Given the description of an element on the screen output the (x, y) to click on. 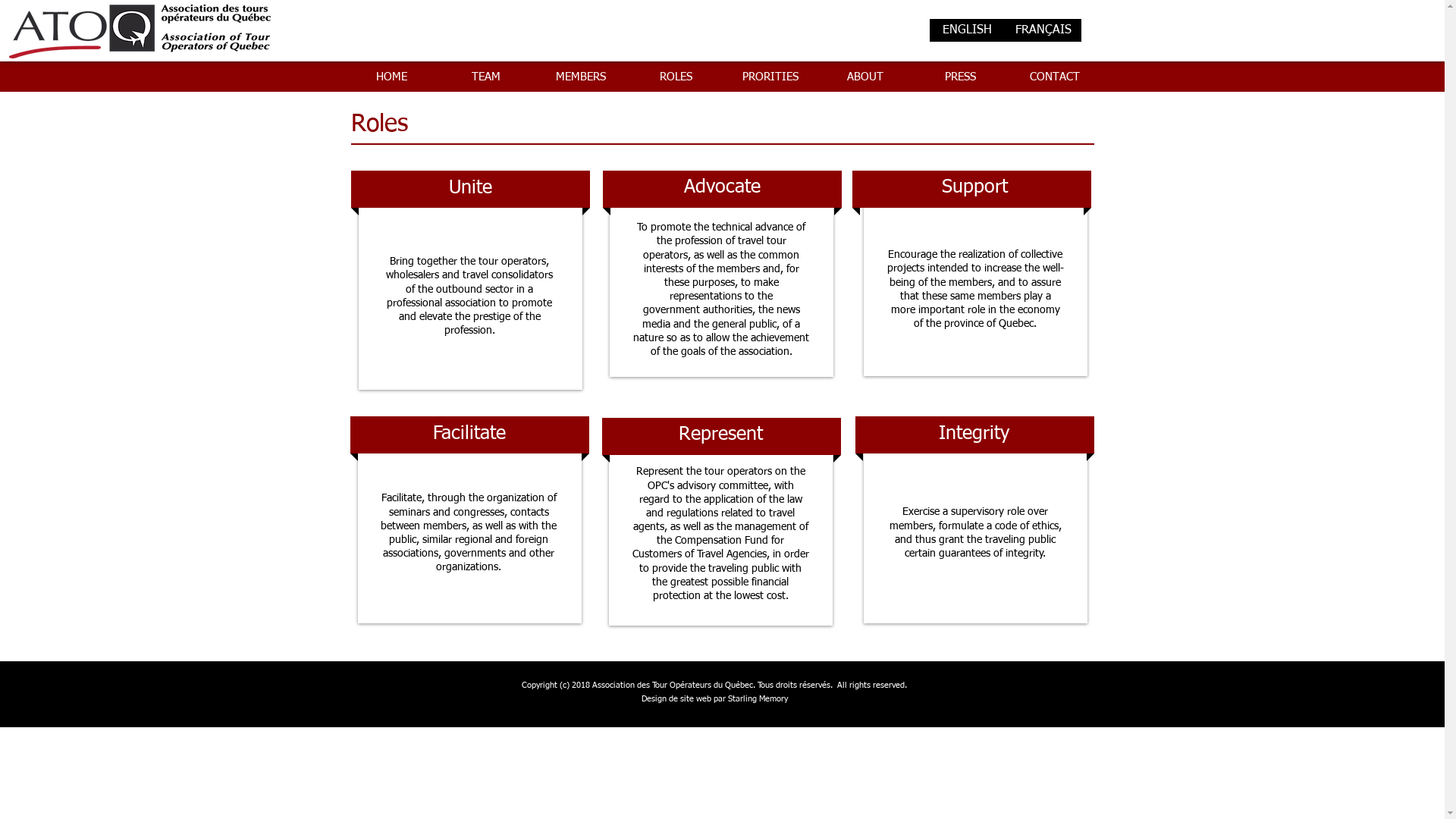
Design de site web par Starling Memory Element type: text (714, 698)
ROLES Element type: text (674, 76)
CONTACT Element type: text (1054, 76)
MEMBERS Element type: text (580, 76)
PRORITIES Element type: text (770, 76)
PRESS Element type: text (960, 76)
TEAM Element type: text (485, 76)
HOME Element type: text (391, 76)
ABOUT Element type: text (864, 76)
ENGLISH Element type: text (967, 29)
